Given the description of an element on the screen output the (x, y) to click on. 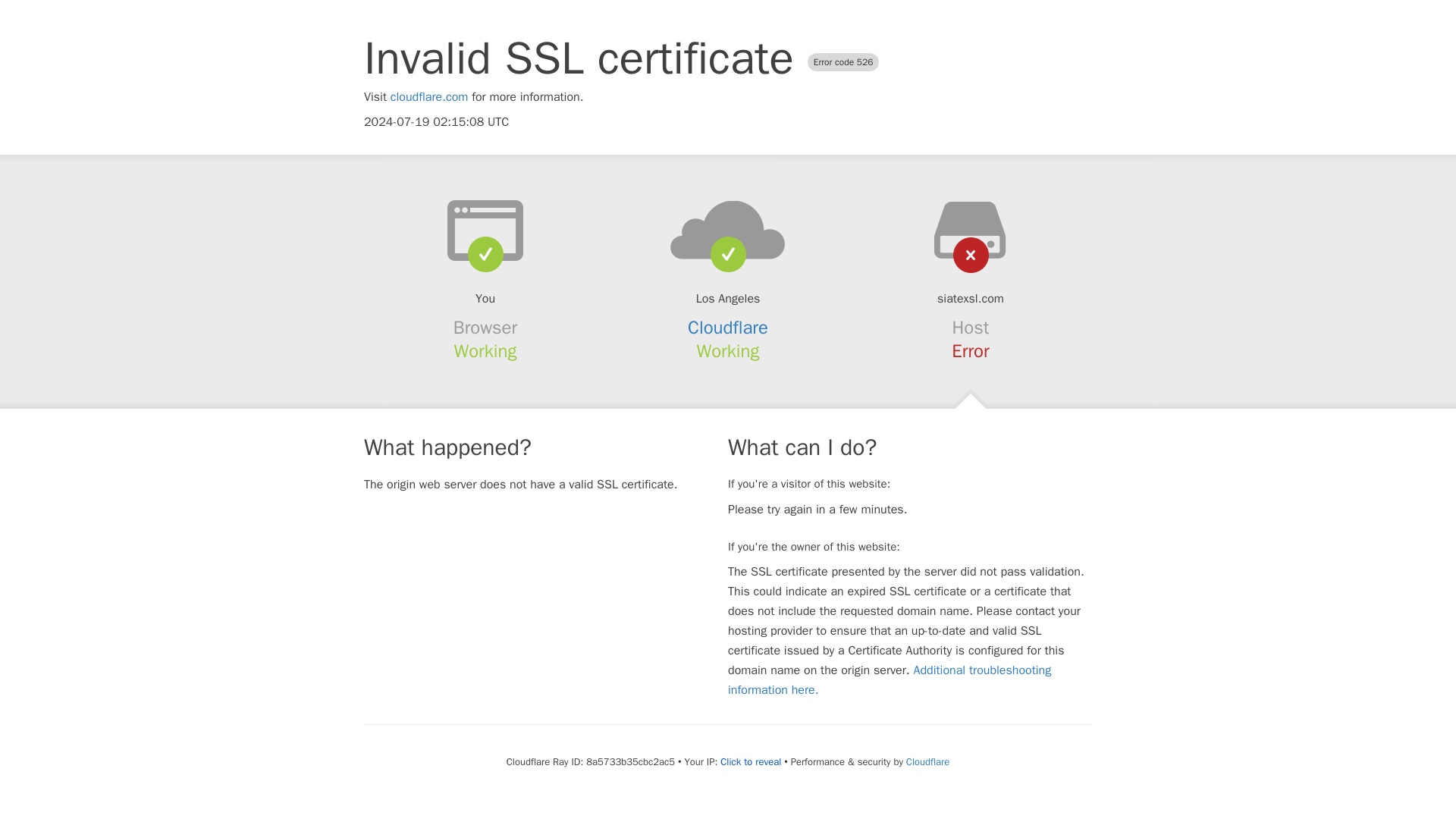
Additional troubleshooting information here. (889, 679)
cloudflare.com (429, 96)
Cloudflare (727, 327)
Cloudflare (927, 761)
Click to reveal (750, 762)
